Given the description of an element on the screen output the (x, y) to click on. 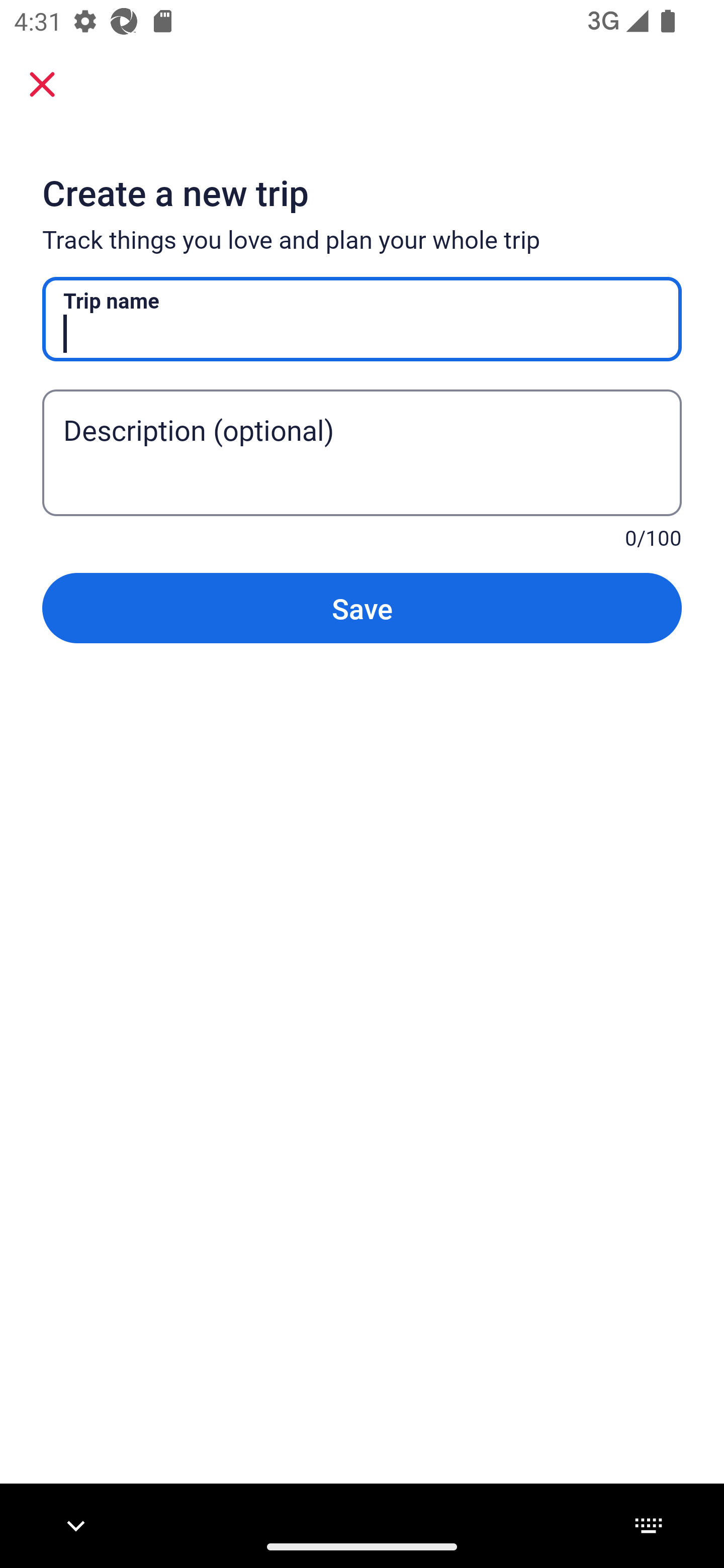
Close (41, 83)
Trip name (361, 318)
Save Button Save (361, 607)
